Given the description of an element on the screen output the (x, y) to click on. 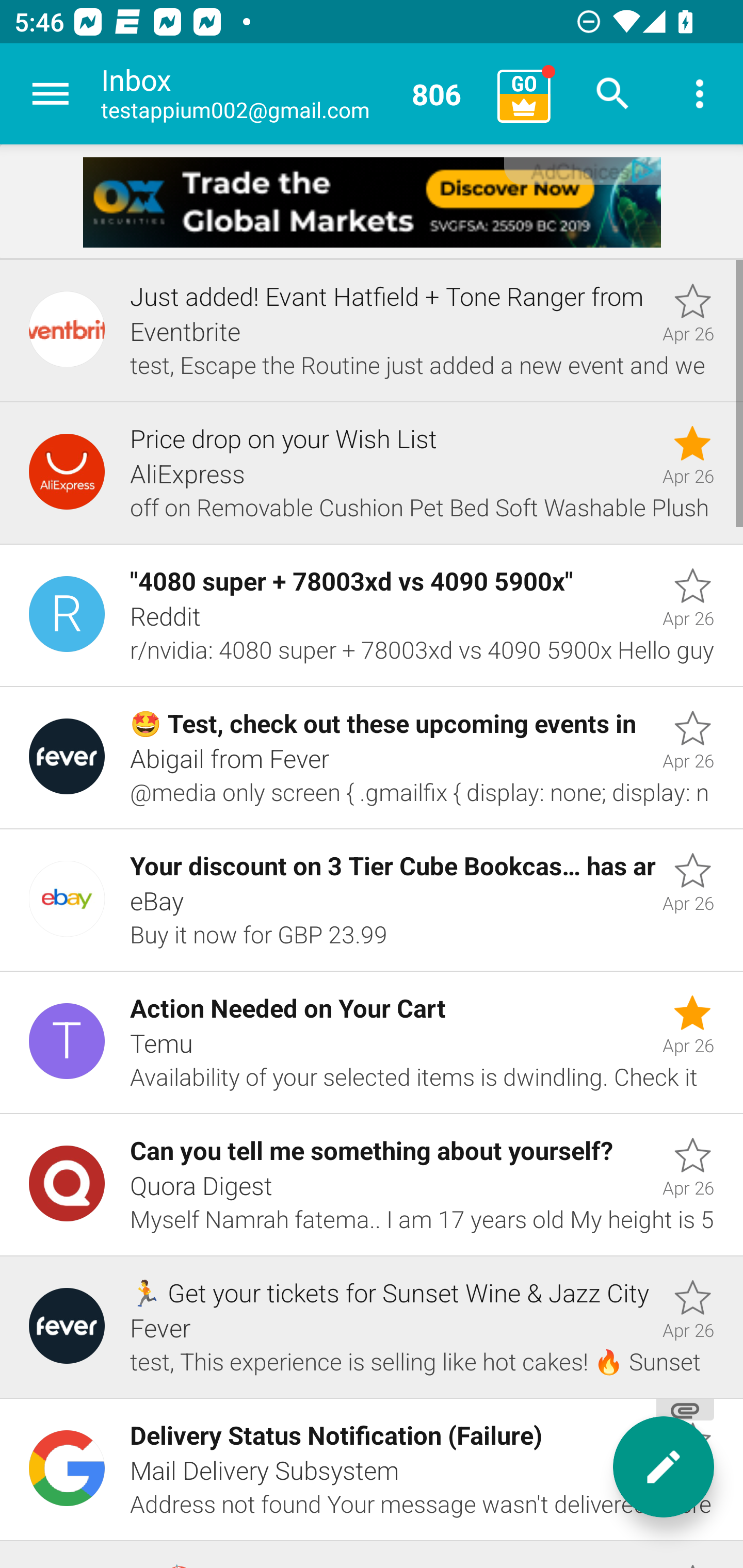
Navigate up (50, 93)
Inbox testappium002@gmail.com 806 (291, 93)
Search (612, 93)
More options (699, 93)
New message (663, 1466)
